Given the description of an element on the screen output the (x, y) to click on. 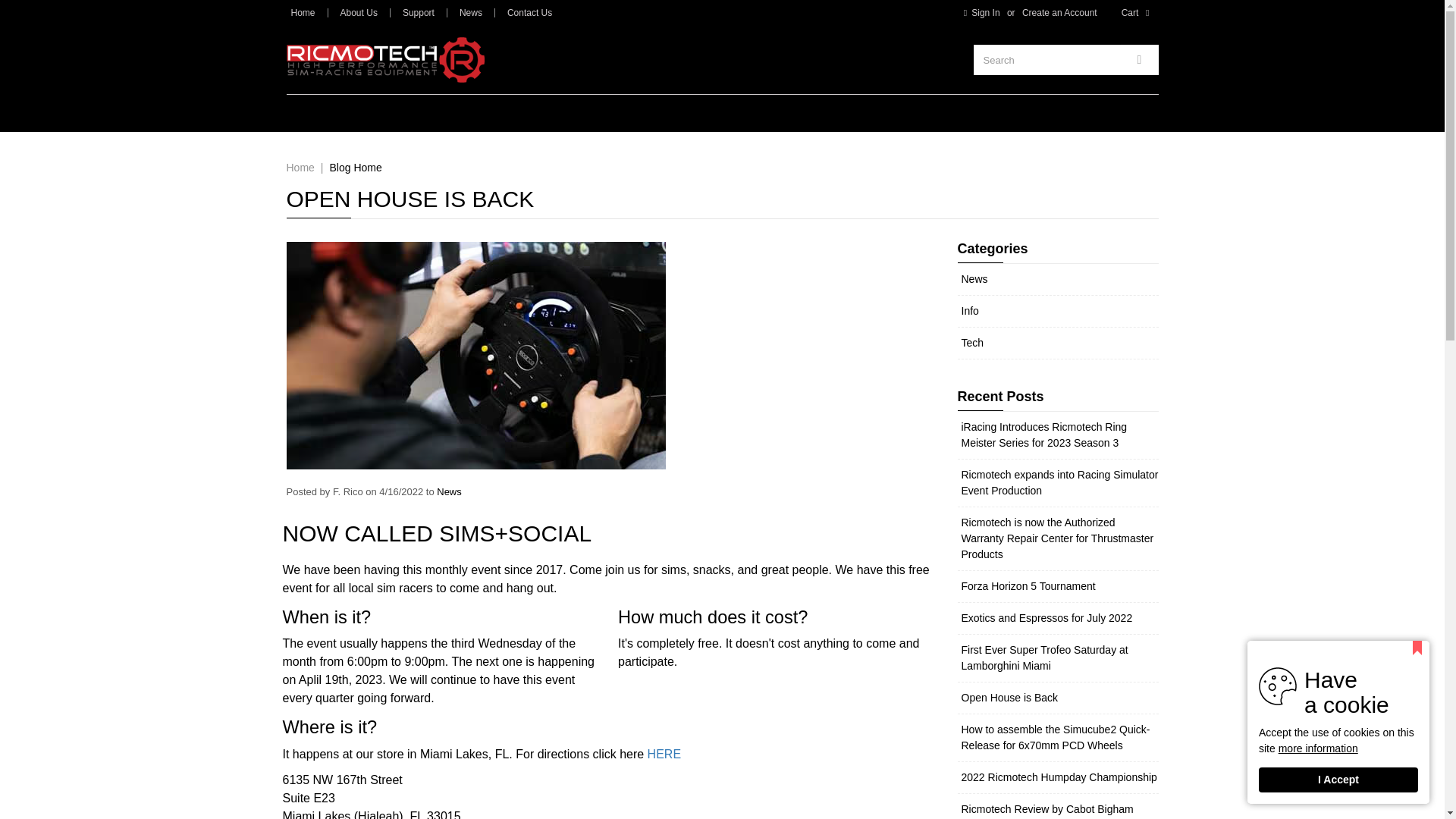
About Us (358, 12)
Cart (1137, 12)
News (470, 12)
Create an Account (1059, 12)
Home (303, 12)
Sign In (978, 12)
Contact Us (529, 12)
Support (418, 12)
